Given the description of an element on the screen output the (x, y) to click on. 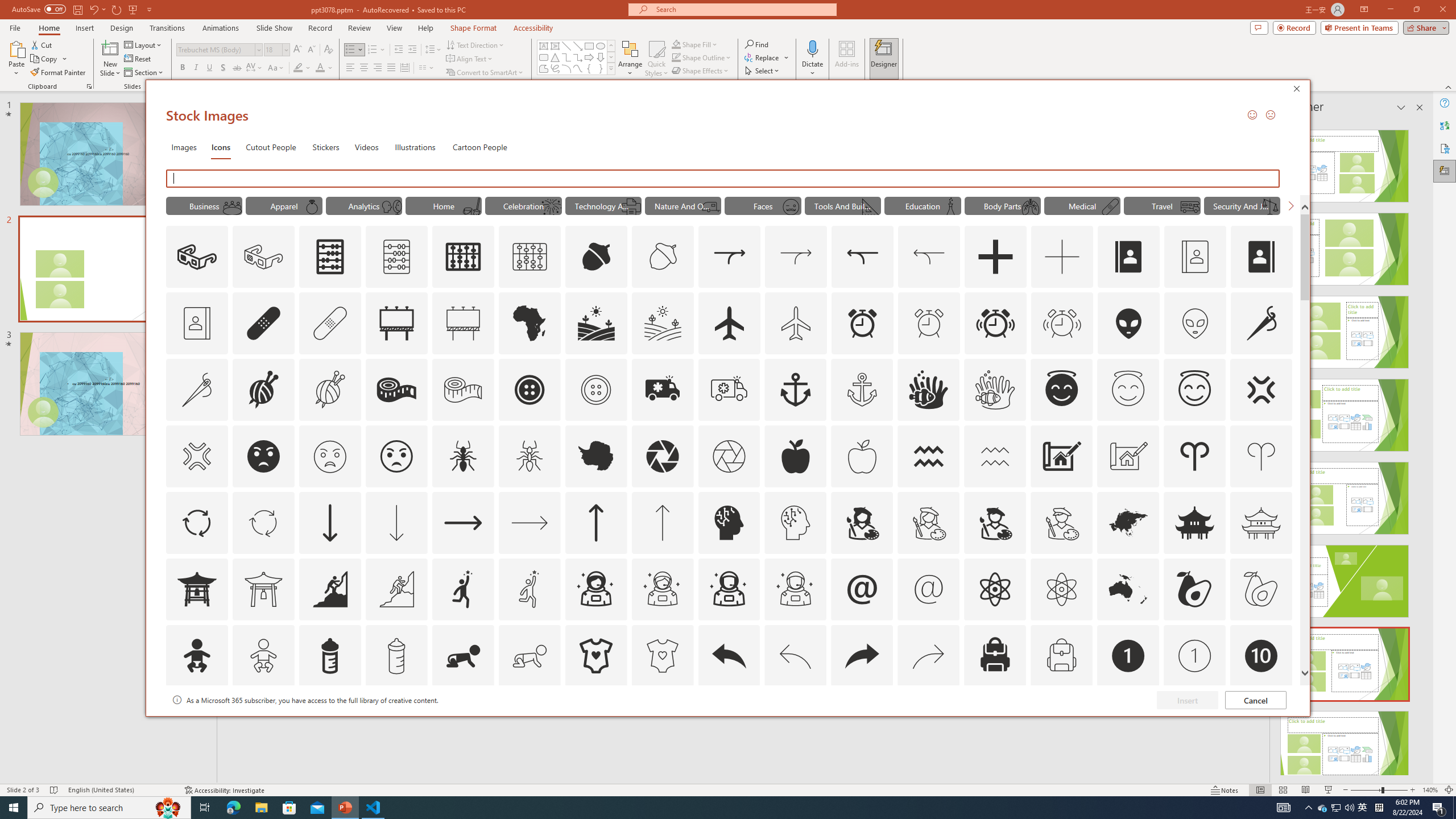
AutomationID: Icons_ArrowCircle_M (263, 522)
AutomationID: Icons_Badge7 (928, 721)
Next Search Suggestion (1290, 205)
AutomationID: Icons_ArrowDown (329, 522)
AutomationID: Icons_Airplane (729, 323)
Format Painter (58, 72)
AutomationID: Icons_Badge4_M (595, 721)
AutomationID: Icons_Acorn (596, 256)
AutomationID: Icons_AngelFace_M (1128, 389)
"Nature And Outdoors" Icons. (682, 205)
